Given the description of an element on the screen output the (x, y) to click on. 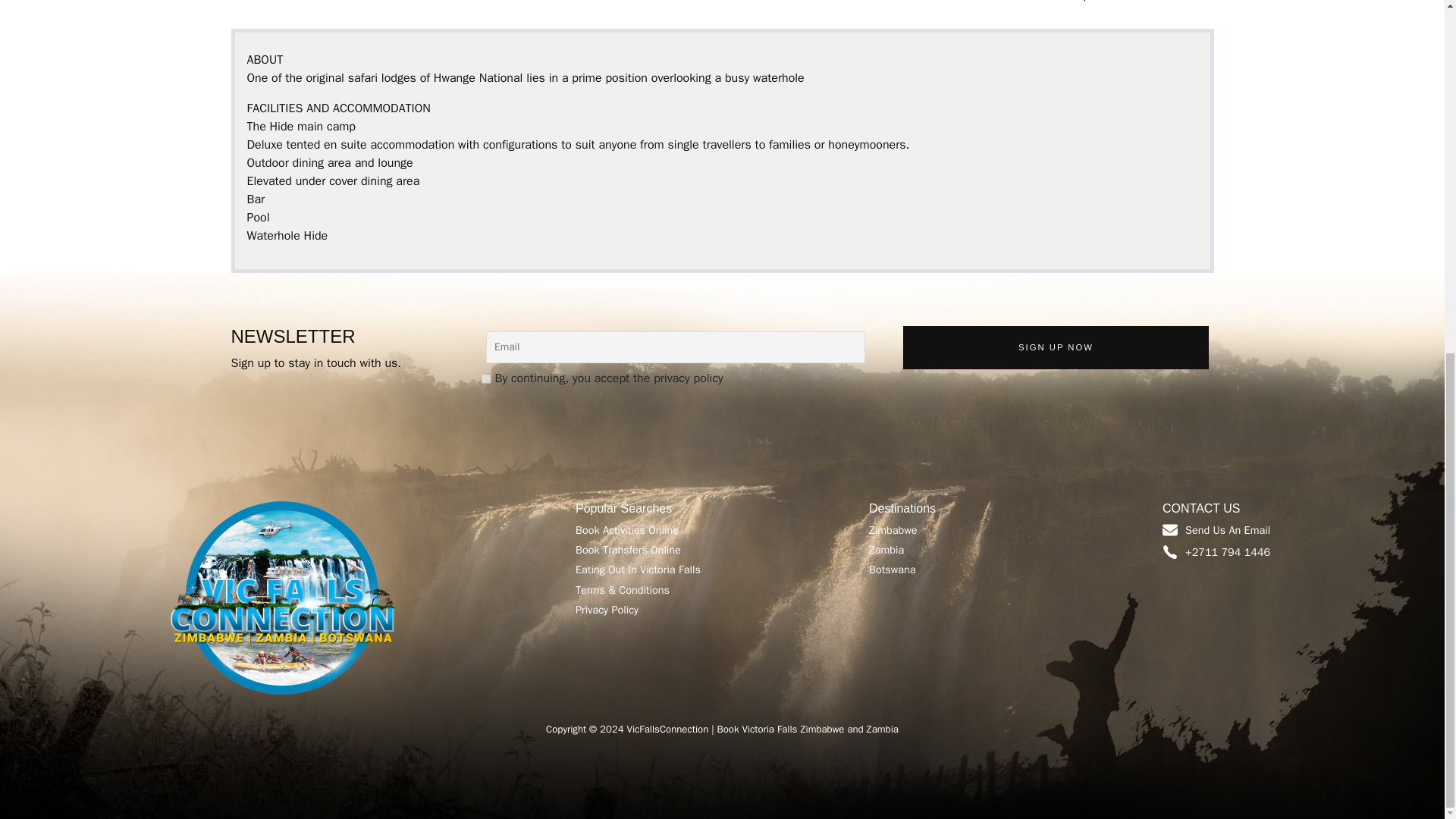
on (485, 378)
SIGN UP NOW (1055, 347)
